Given the description of an element on the screen output the (x, y) to click on. 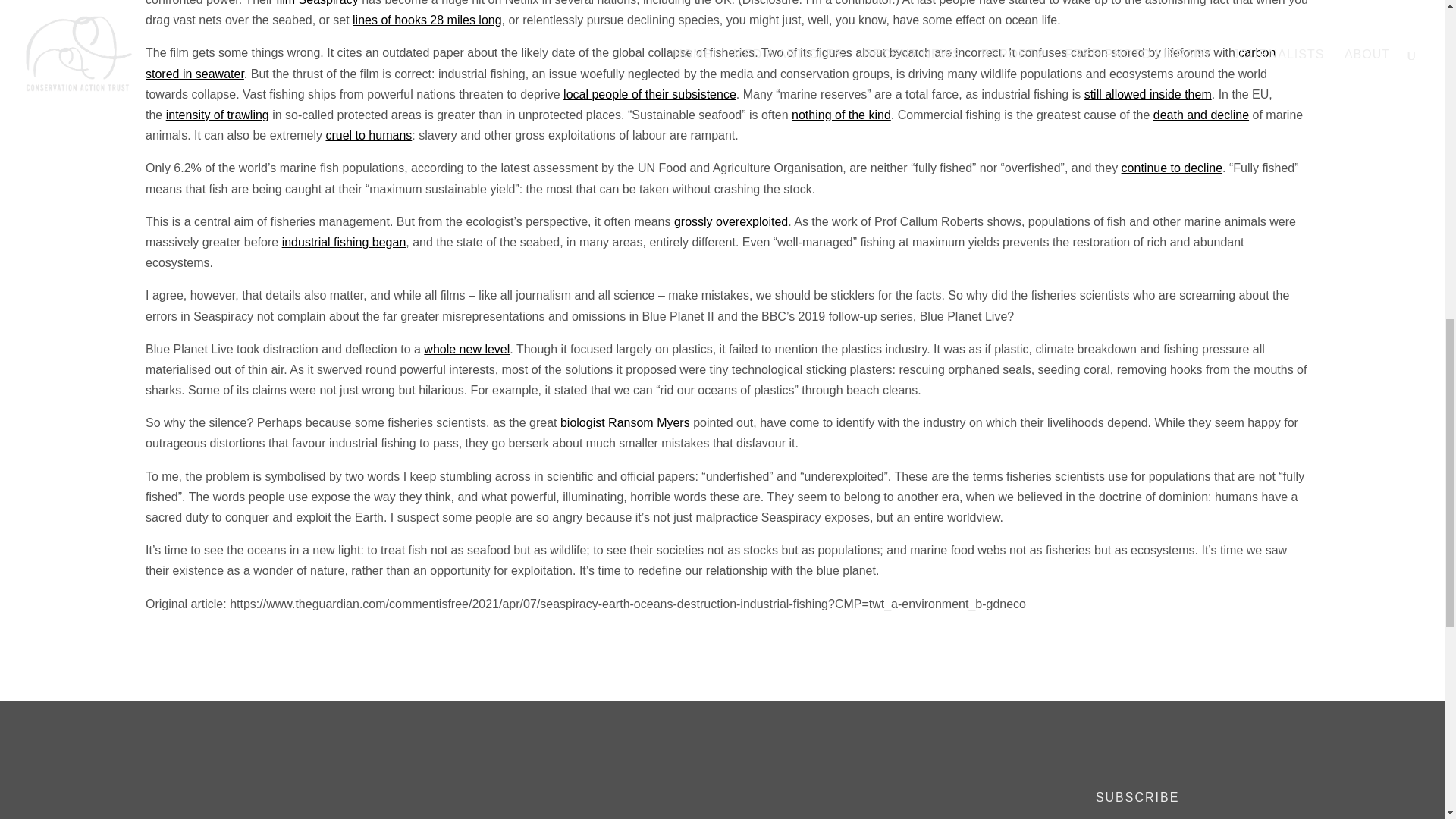
intensity of trawling (217, 114)
carbon stored in seawater (710, 62)
local people of their subsistence (649, 93)
whole new level (466, 349)
industrial fishing began (344, 241)
cruel to humans (368, 134)
biologist Ransom Myers (625, 422)
still allowed inside them (1147, 93)
continue to decline (1172, 167)
film Seaspiracy (317, 2)
lines of hooks 28 miles long (427, 19)
nothing of the kind (841, 114)
grossly overexploited (730, 221)
death and decline (1201, 114)
